Given the description of an element on the screen output the (x, y) to click on. 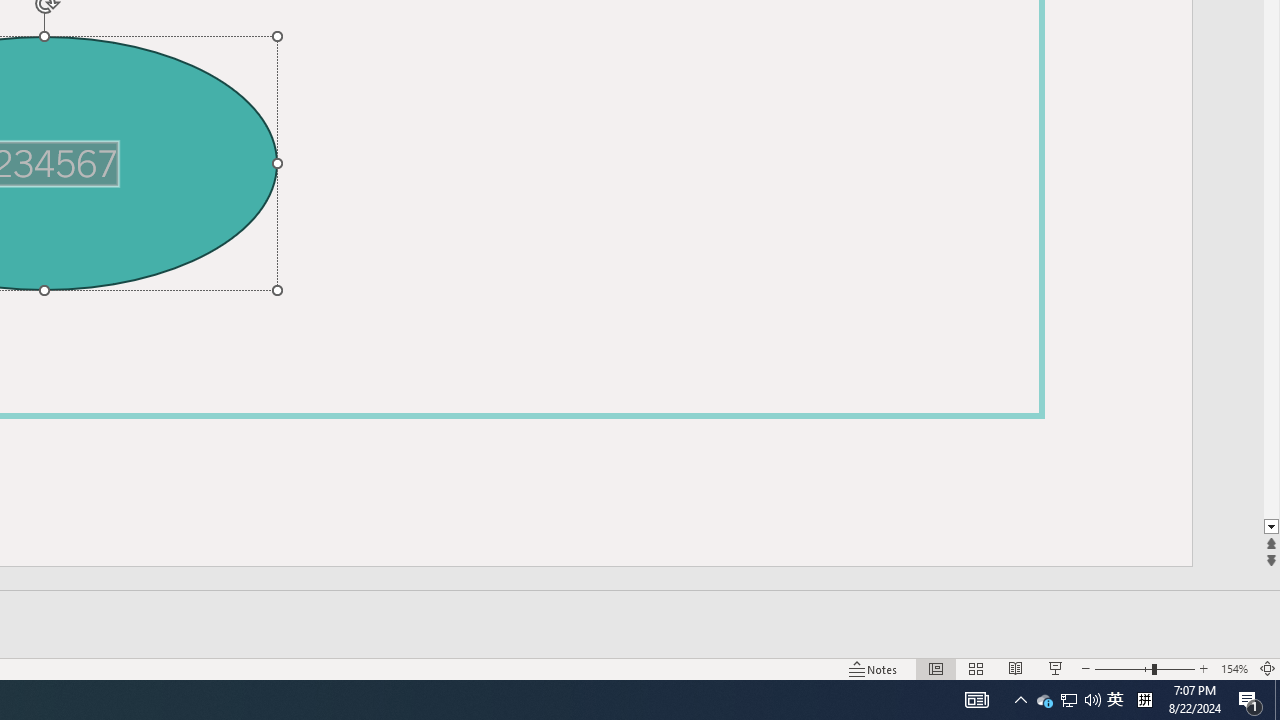
Zoom 154% (1234, 668)
